Given the description of an element on the screen output the (x, y) to click on. 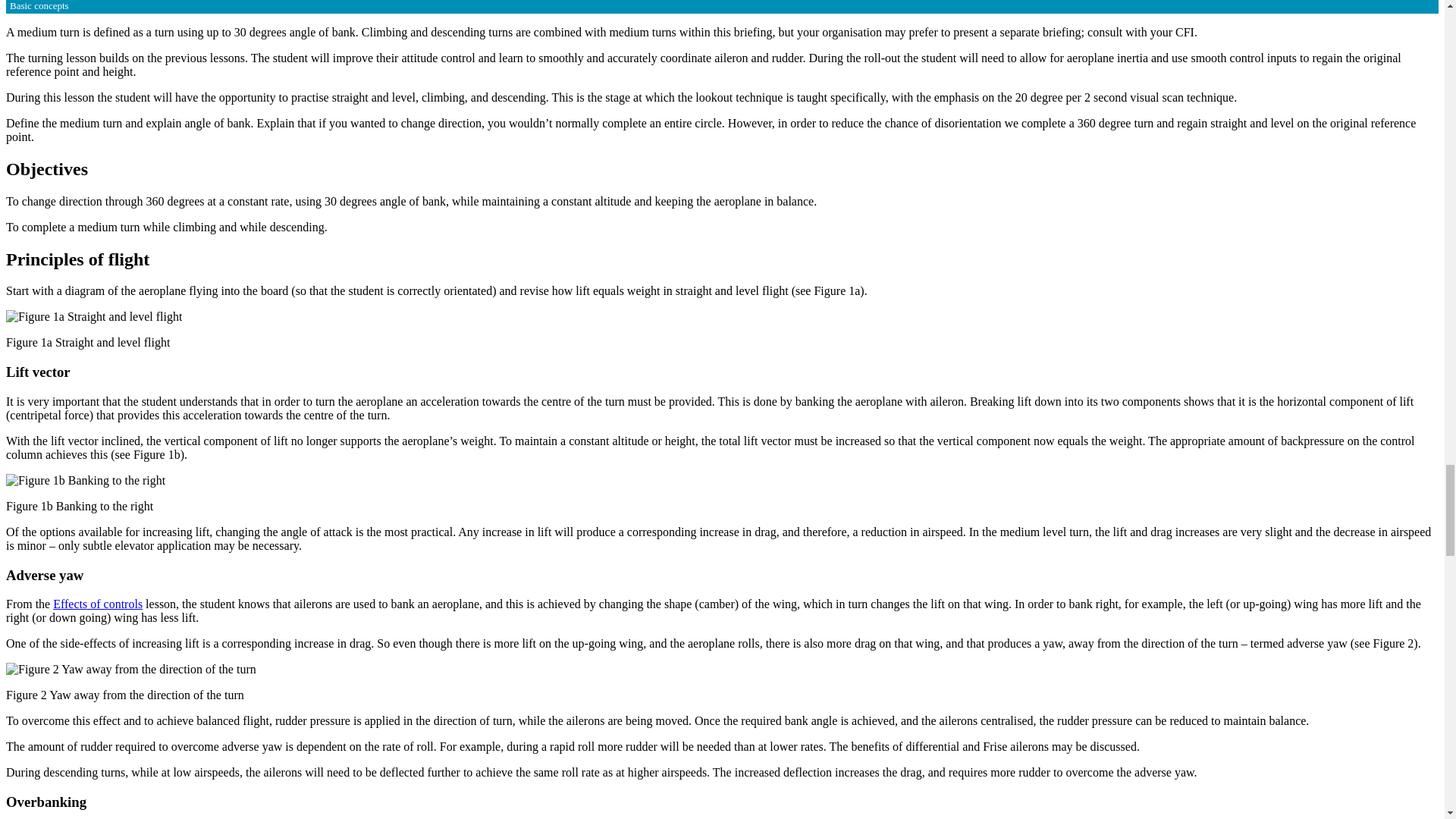
Figure 1a Straight and level flight (93, 316)
Figure 2 Yaw away from the direction of the turn (130, 669)
Figure 1b Banking to the right (85, 480)
